Given the description of an element on the screen output the (x, y) to click on. 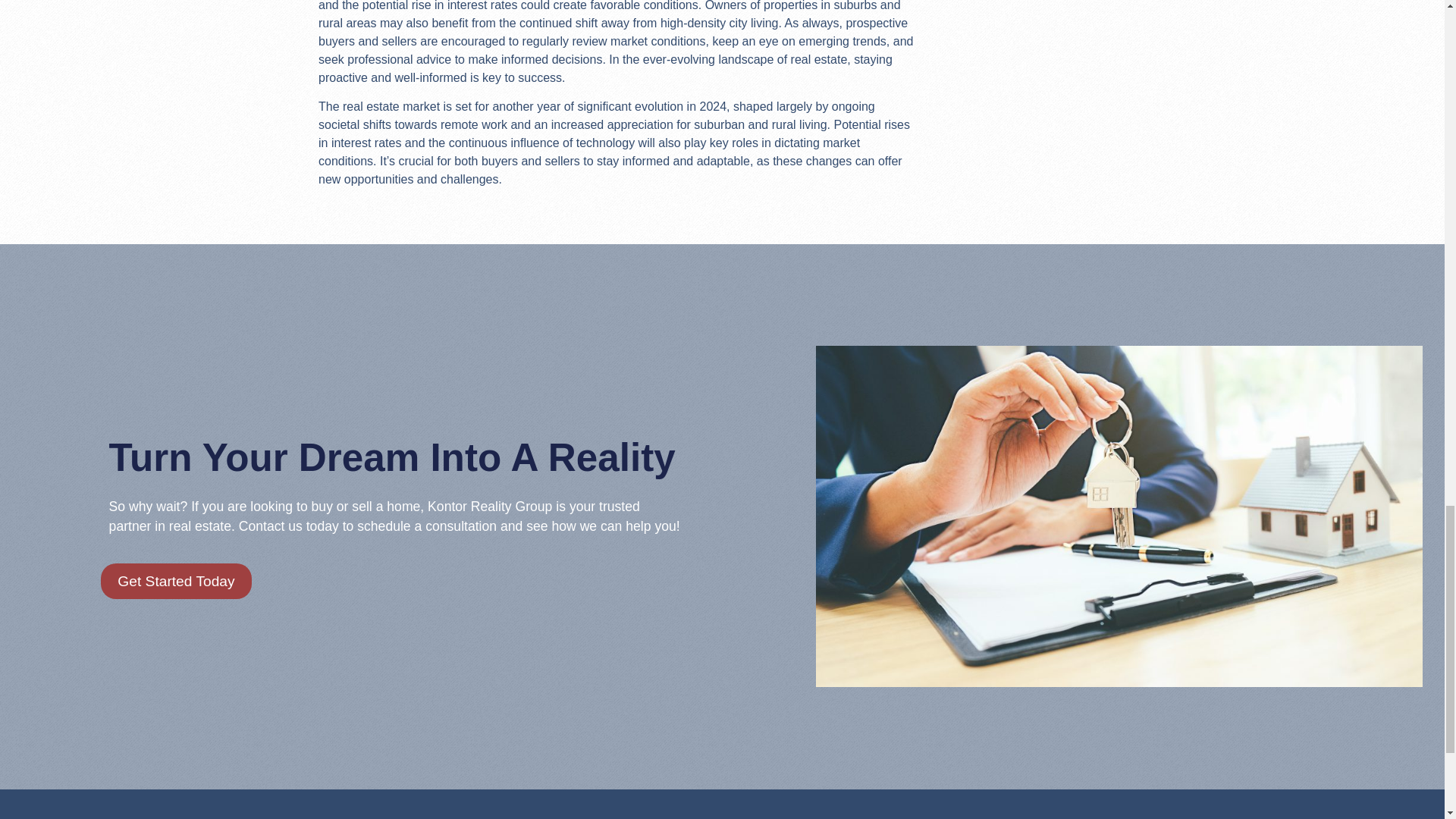
Get Started Today (175, 580)
